Given the description of an element on the screen output the (x, y) to click on. 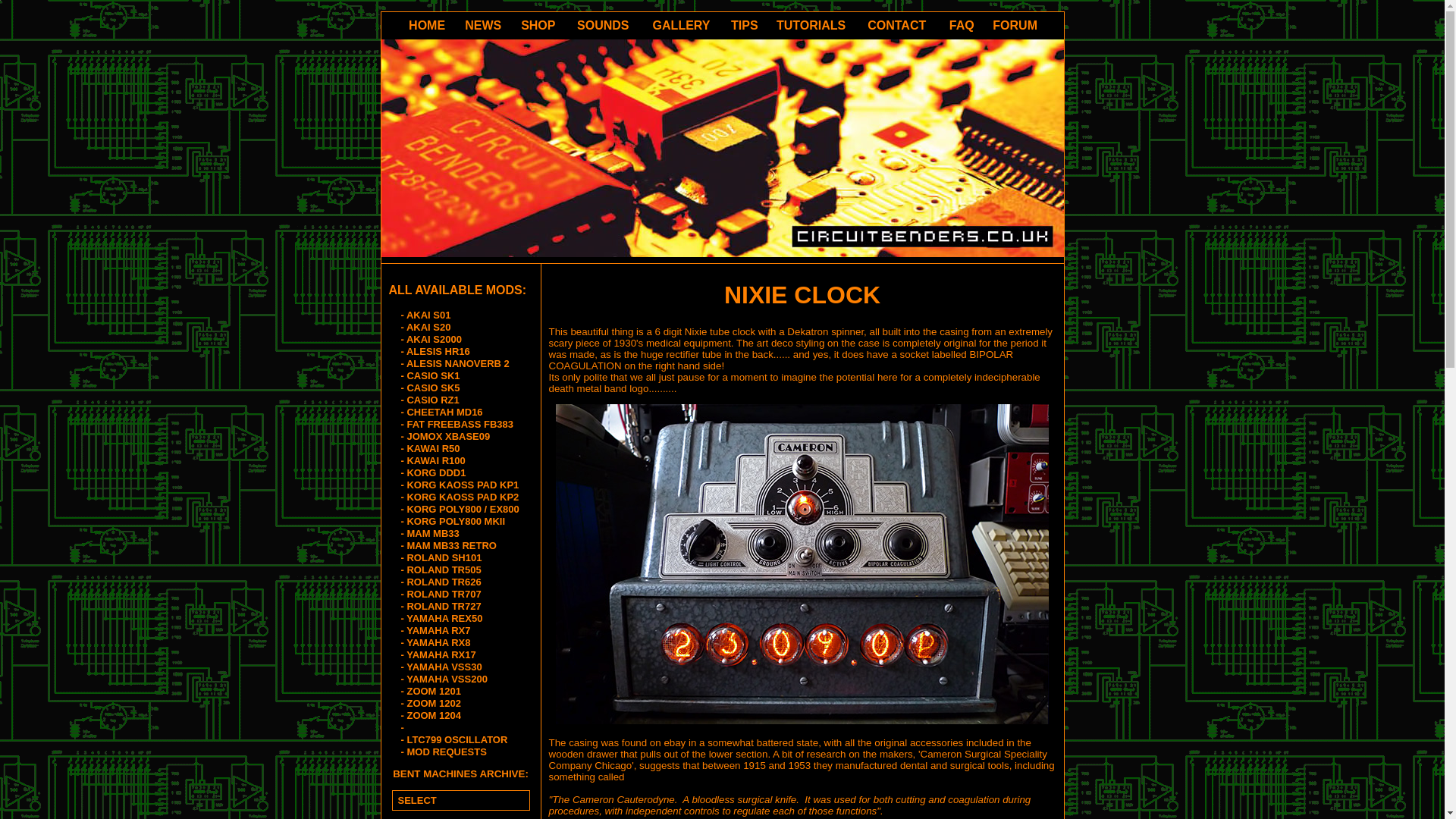
- YAMAHA RX7 (457, 630)
- JOMOX XBASE09 (457, 436)
- CHEETAH MD16 (457, 412)
- ROLAND TR505 (457, 570)
- CASIO SK5 (457, 387)
- ALESIS NANOVERB 2 (457, 363)
- KORG DDD1 (457, 472)
- KAWAI R50 (457, 449)
CONTACT (896, 24)
- ROLAND TR727 (457, 606)
GALLERY (681, 24)
- KORG KAOSS PAD KP1 (457, 485)
- YAMAHA RX8 (457, 643)
- YAMAHA REX50 (457, 618)
FAQ (961, 24)
